Given the description of an element on the screen output the (x, y) to click on. 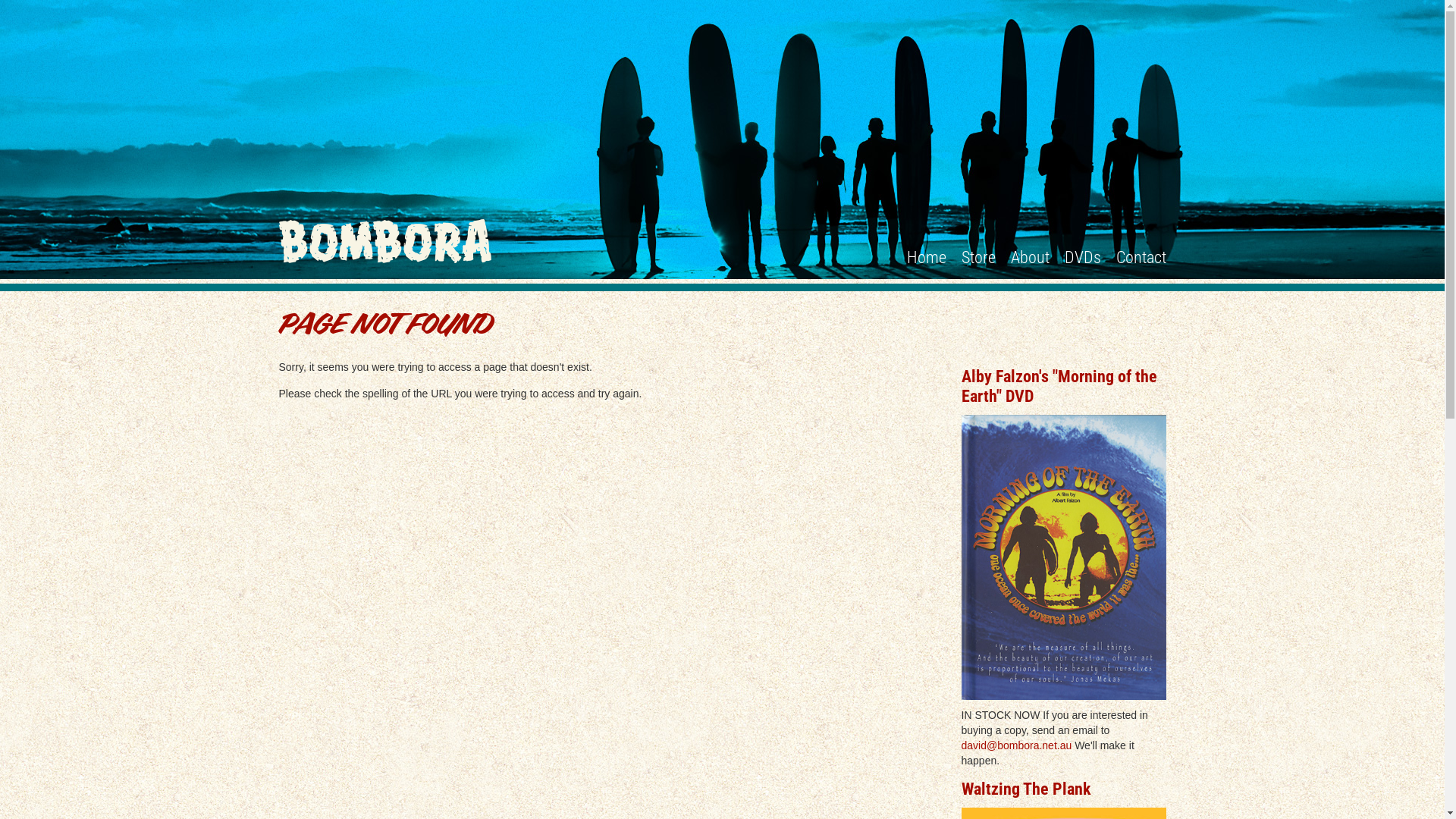
DVDs Element type: text (1082, 256)
Home Element type: text (926, 256)
Store Element type: text (978, 256)
david@bombora.net.au Element type: text (1016, 745)
About Element type: text (1029, 256)
Contact Element type: text (1141, 256)
